Given the description of an element on the screen output the (x, y) to click on. 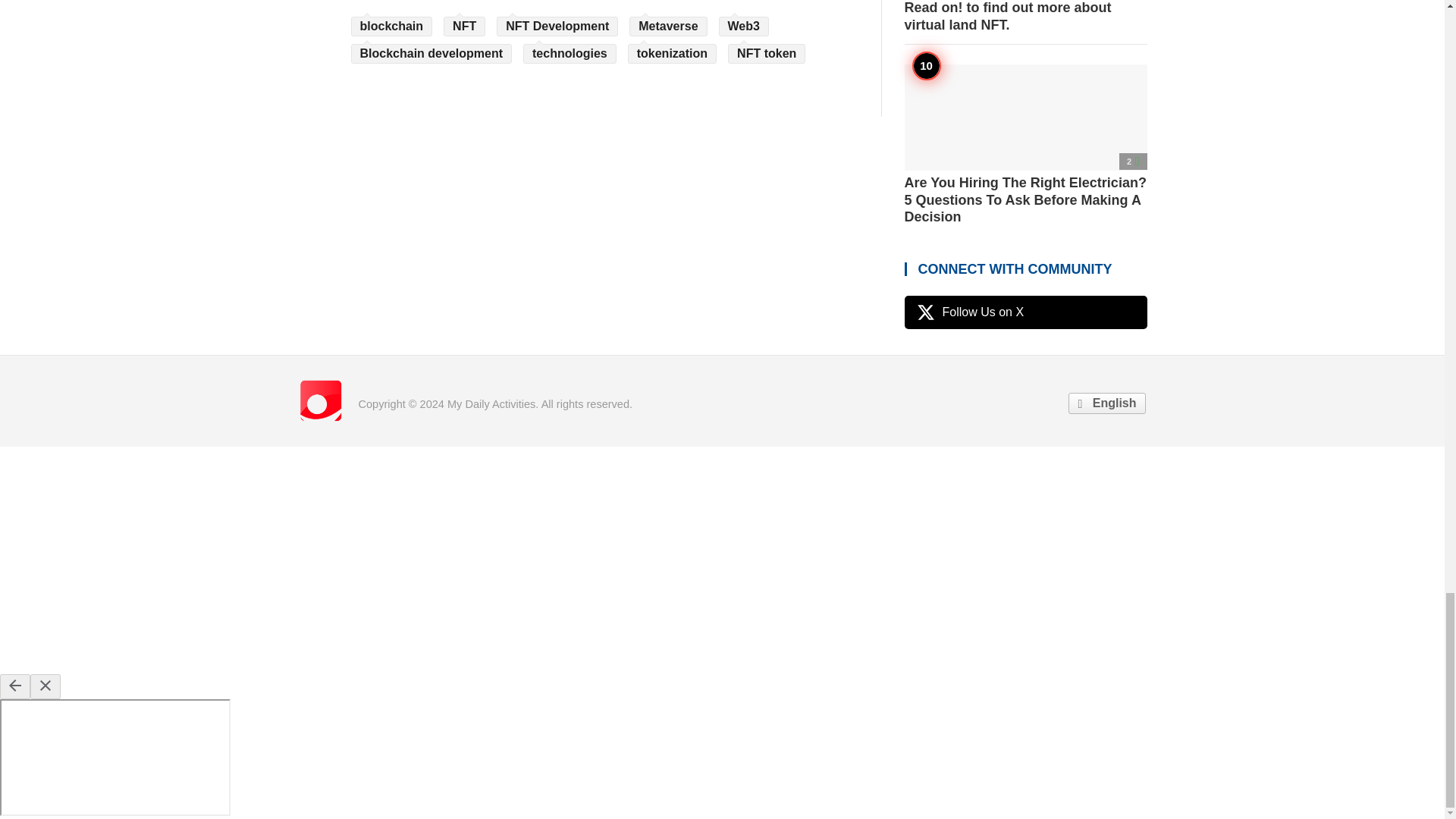
Read on! to find out more about virtual land NFT. (1025, 16)
